Given the description of an element on the screen output the (x, y) to click on. 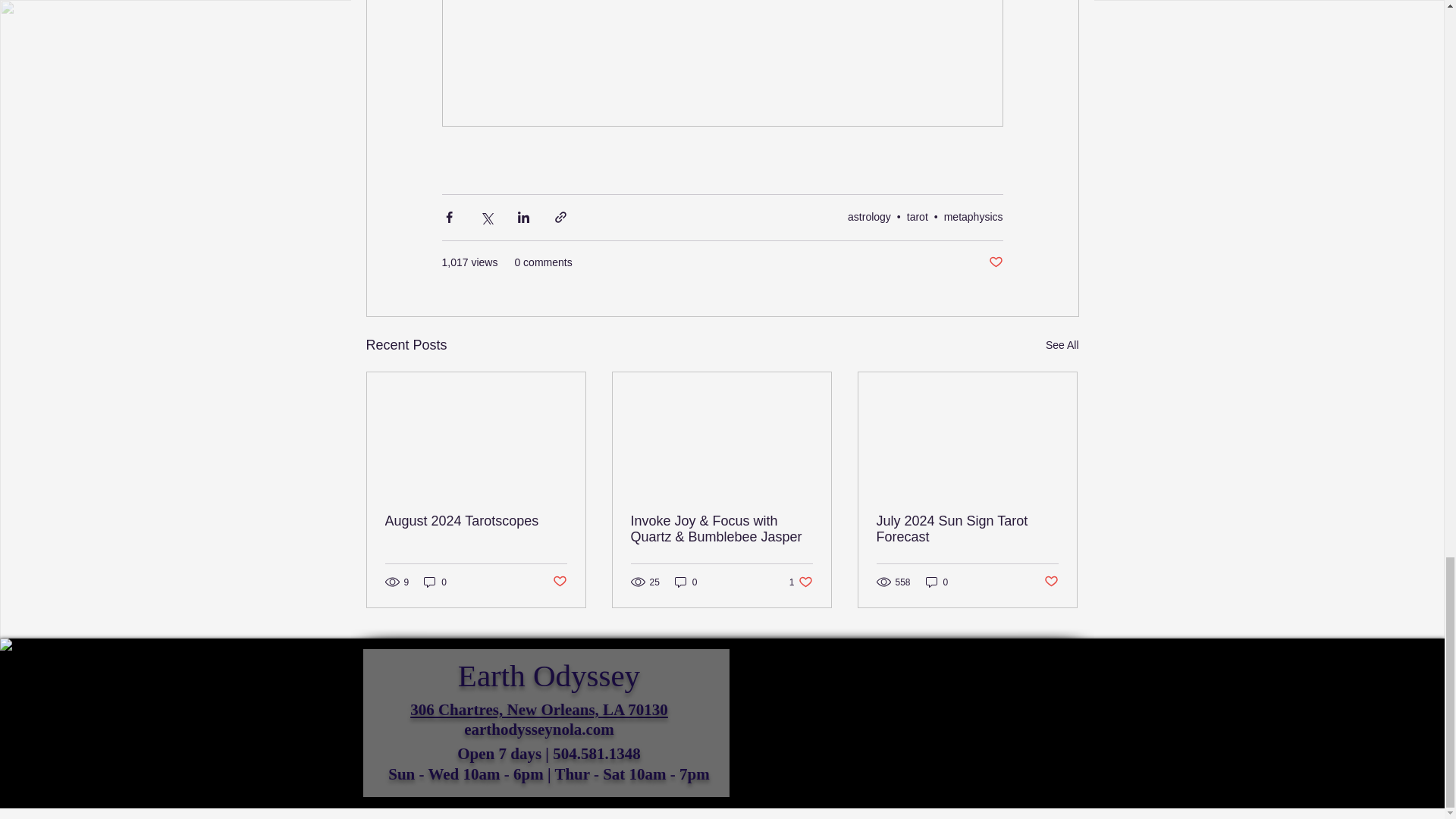
tarot (917, 216)
See All (1061, 345)
metaphysics (973, 216)
0 (435, 581)
Post not marked as liked (995, 262)
August 2024 Tarotscopes (476, 521)
astrology (869, 216)
